Given the description of an element on the screen output the (x, y) to click on. 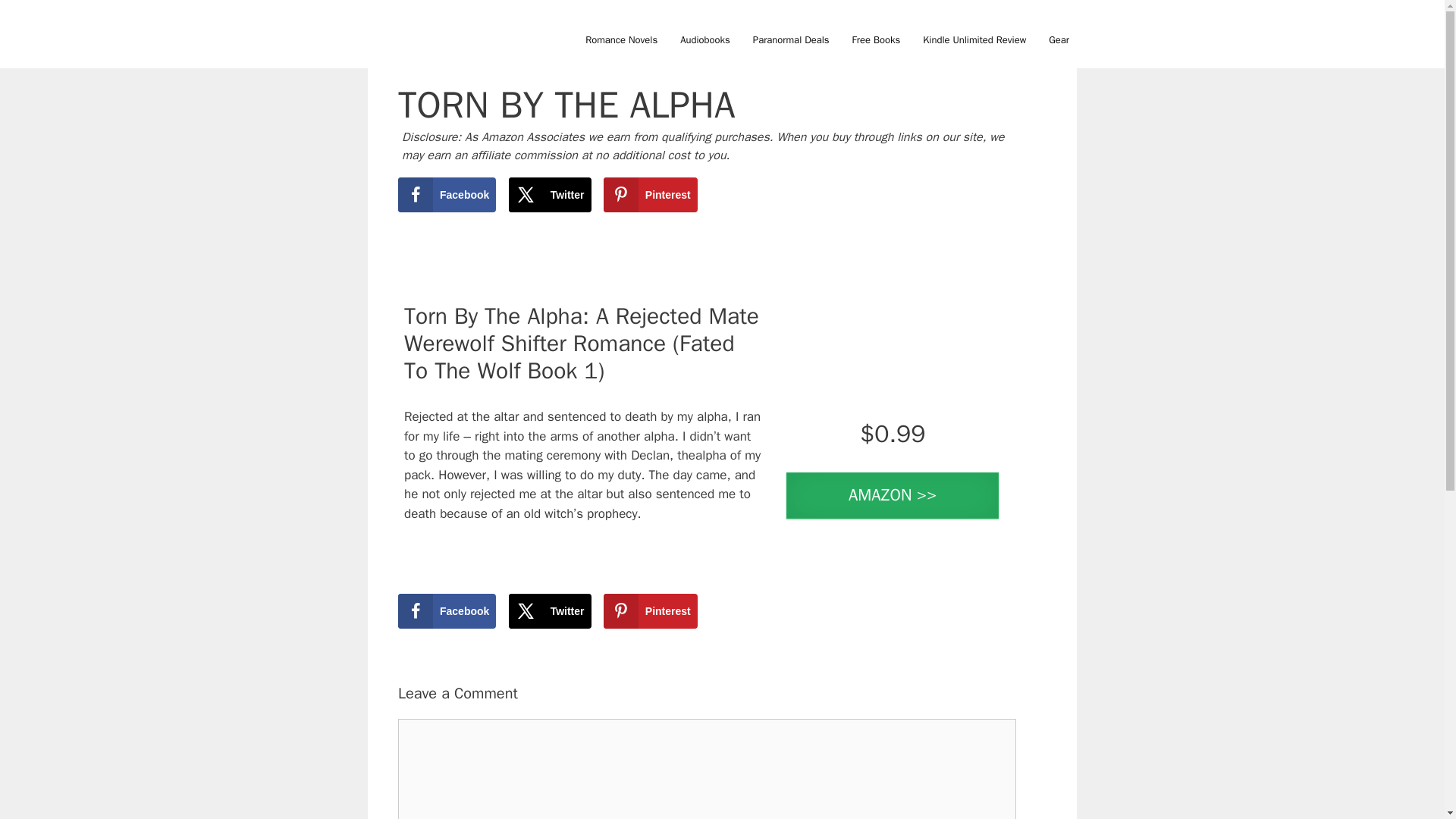
Twitter (549, 194)
Facebook (446, 194)
Twitter (549, 610)
Share on Facebook (446, 194)
Gear (1058, 39)
Free Books (876, 39)
Save to Pinterest (650, 610)
Pinterest (650, 194)
Paranormal Deals (791, 39)
Pinterest (650, 610)
Audiobooks (704, 39)
Romance Novels (620, 39)
Kindle Unlimited Review (973, 39)
Share on X (549, 610)
Share on Facebook (446, 610)
